Given the description of an element on the screen output the (x, y) to click on. 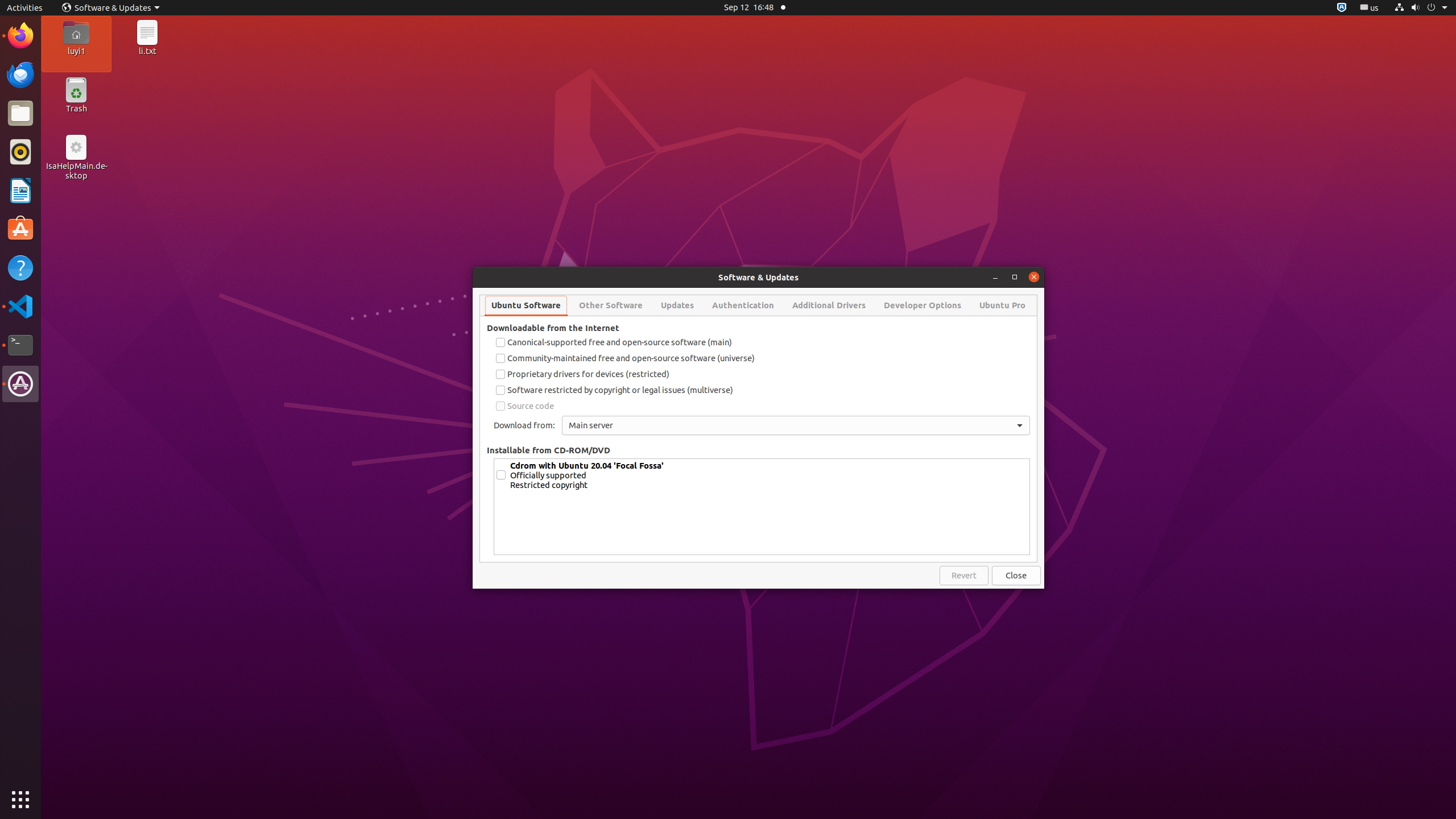
IsaHelpMain.desktop Element type: label (75, 170)
Developer Options Element type: page-tab (922, 304)
Cdrom with Ubuntu 20.04 'Focal Fossa'
Officially supported
Restricted copyright Element type: table-cell (768, 474)
